Given the description of an element on the screen output the (x, y) to click on. 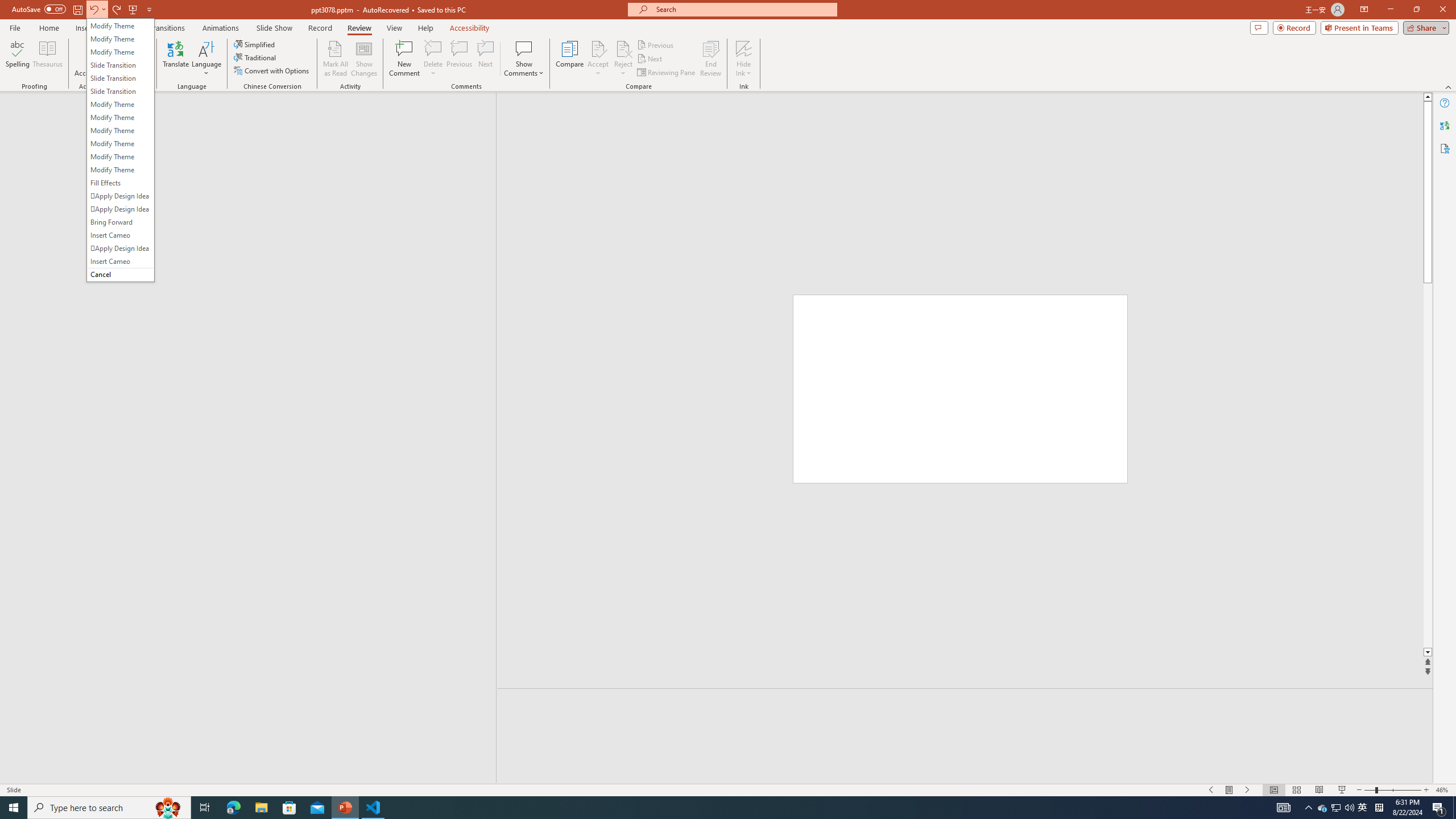
Translate (175, 58)
Microsoft Store (289, 807)
Reject Change (622, 48)
Hide Ink (743, 48)
Convert with Options... (272, 69)
Simplified (254, 44)
Visual Studio Code - 1 running window (373, 807)
Task View (204, 807)
Accept Change (598, 48)
Q2790: 100% (1349, 807)
